Given the description of an element on the screen output the (x, y) to click on. 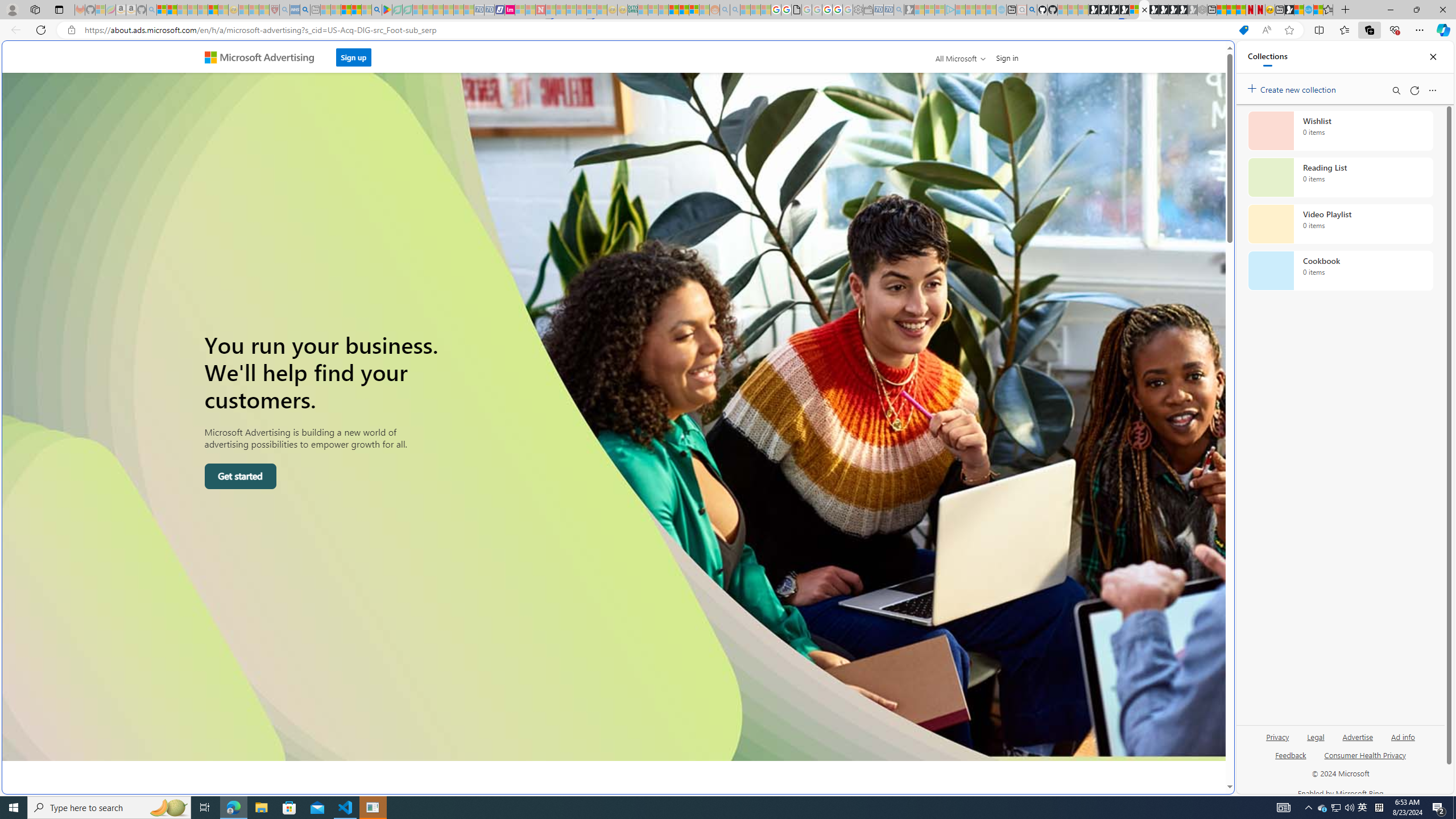
Get started (239, 476)
github - Search (1032, 9)
